Given the description of an element on the screen output the (x, y) to click on. 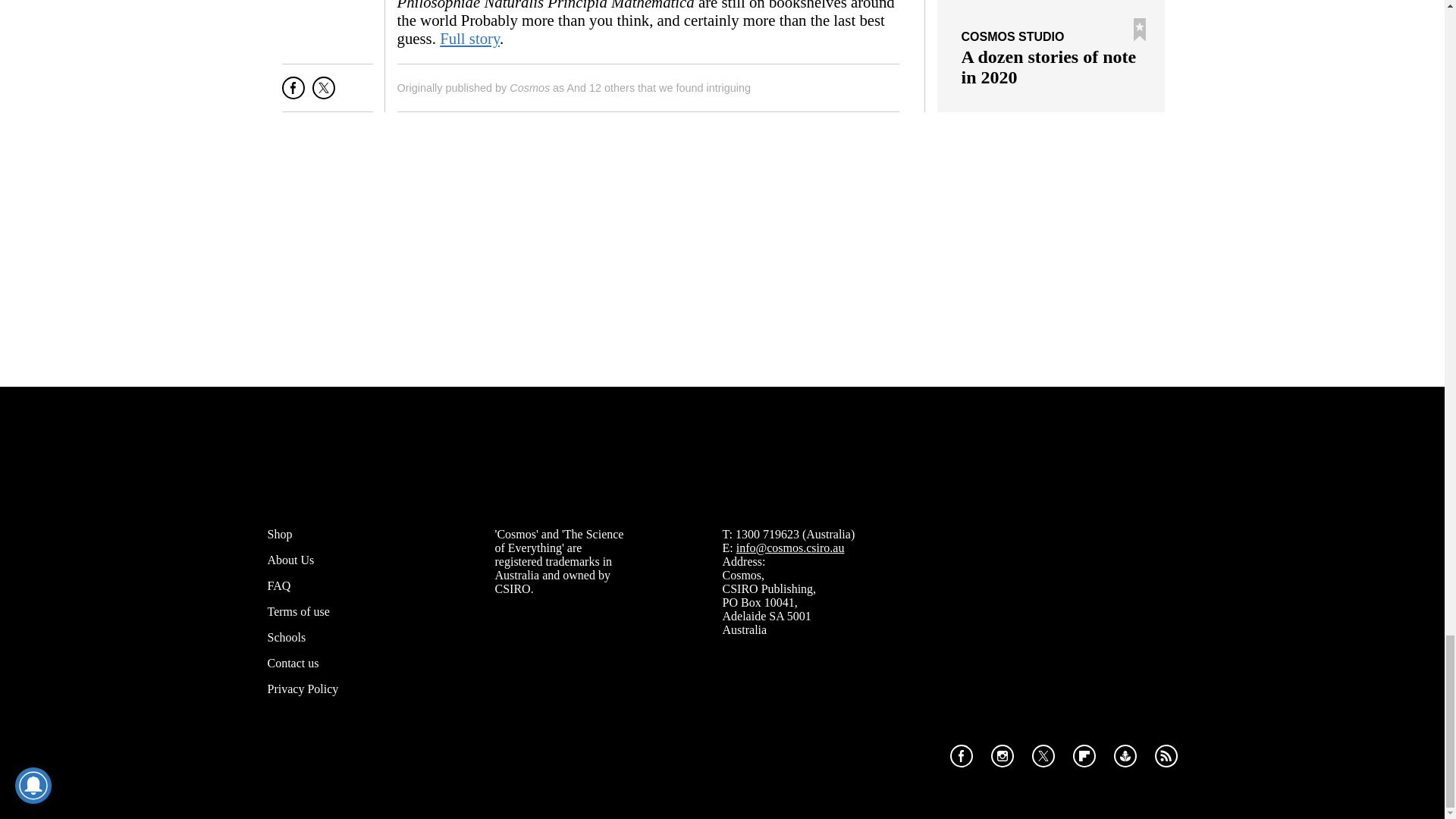
Tweet (323, 93)
And 12 others that we found intriguing (657, 87)
Share on Facebook (293, 93)
